Given the description of an element on the screen output the (x, y) to click on. 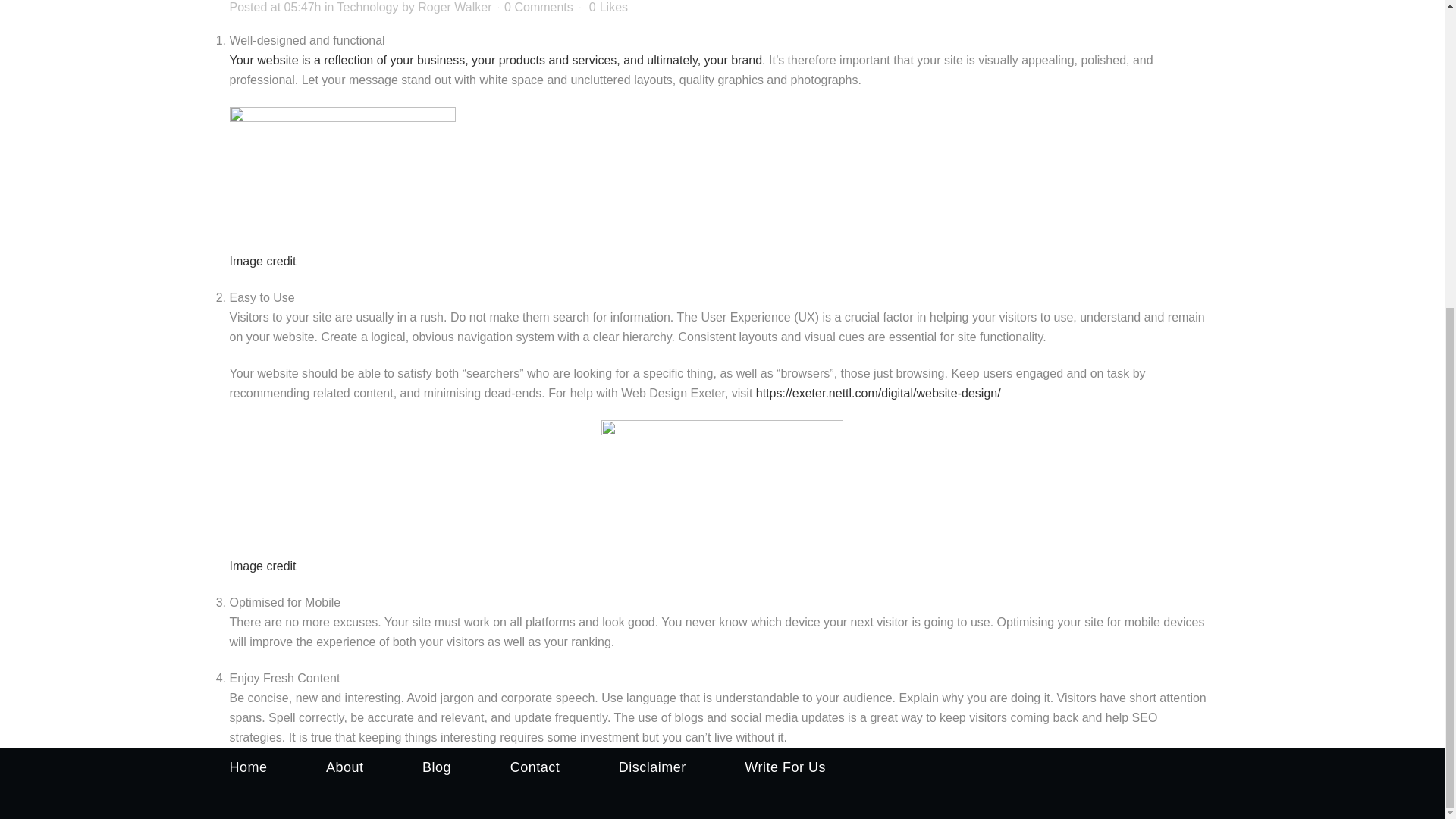
0 Likes (608, 7)
Like this (608, 7)
About (345, 767)
Home (247, 767)
Image credit (261, 260)
Technology (367, 6)
Contact (535, 767)
Blog (436, 767)
Write For Us (784, 767)
Image credit (261, 565)
Disclaimer (651, 767)
0 Comments (538, 6)
Roger Walker (454, 6)
